Given the description of an element on the screen output the (x, y) to click on. 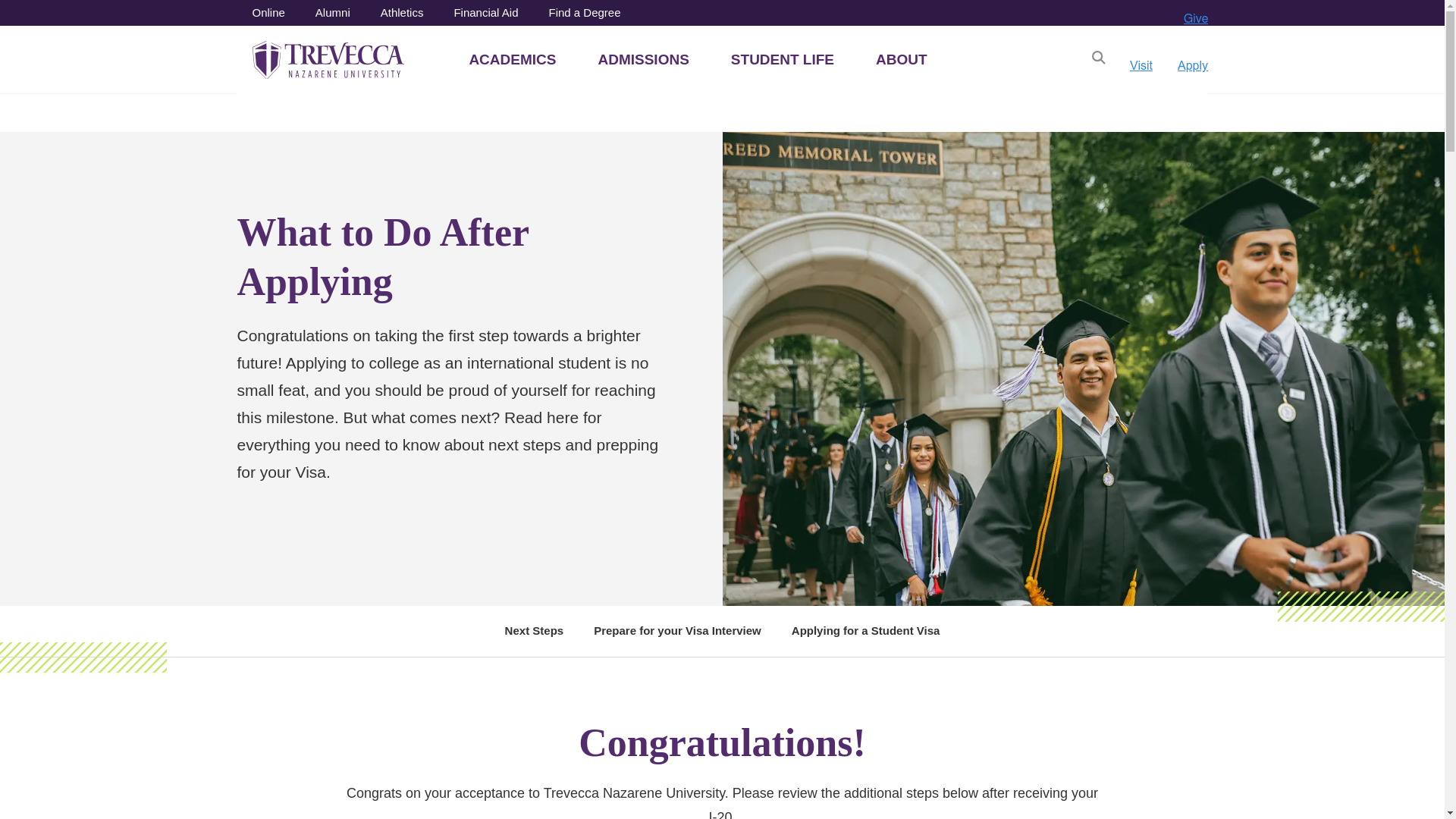
Financial Aid (485, 13)
Athletics (401, 13)
Online (267, 13)
Alumni (332, 13)
ADMISSIONS (642, 59)
STUDENT LIFE (782, 59)
ACADEMICS (512, 59)
